Given the description of an element on the screen output the (x, y) to click on. 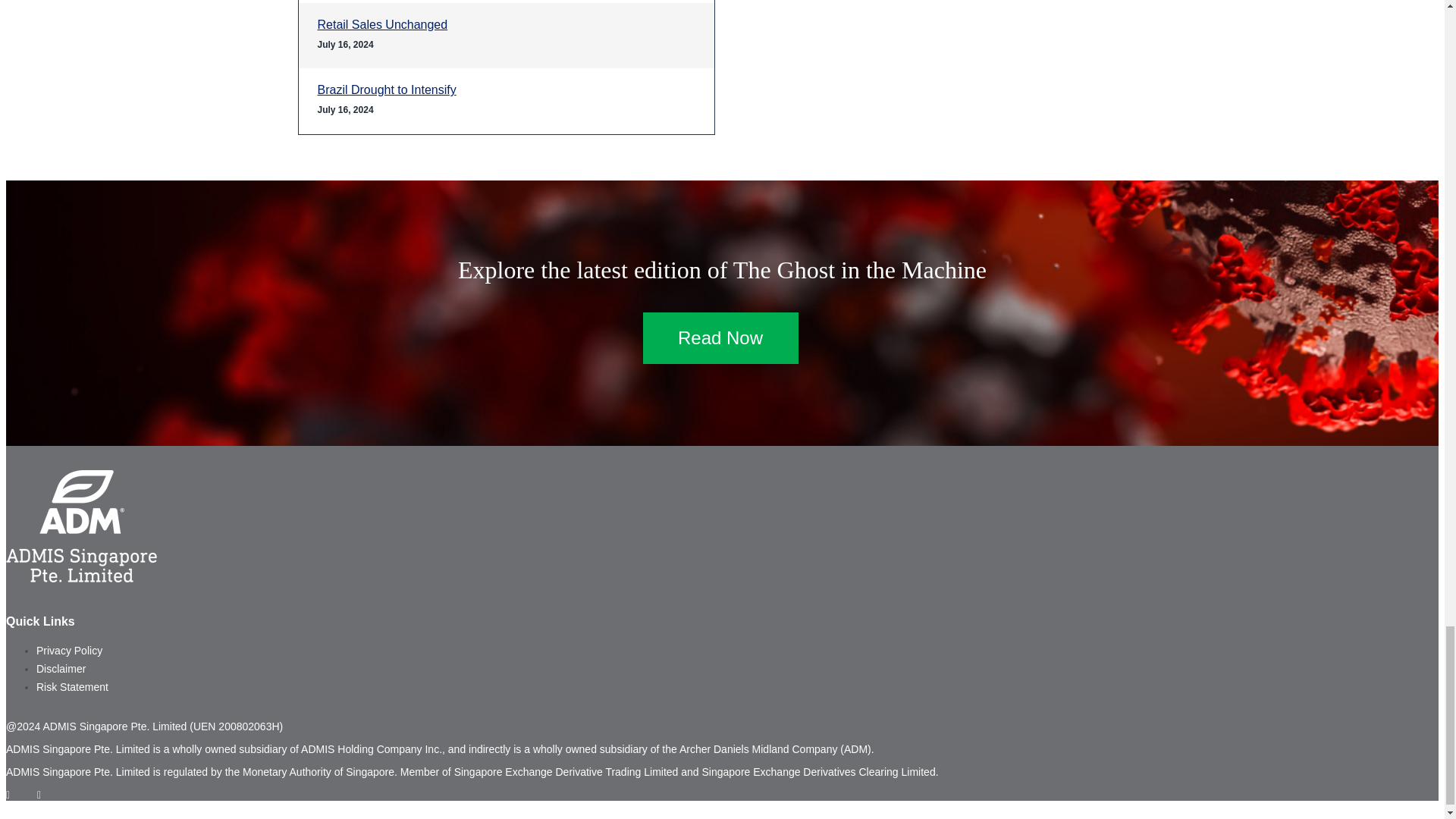
Risk Statement (71, 686)
Disclaimer (60, 668)
Privacy Policy (68, 650)
